Given the description of an element on the screen output the (x, y) to click on. 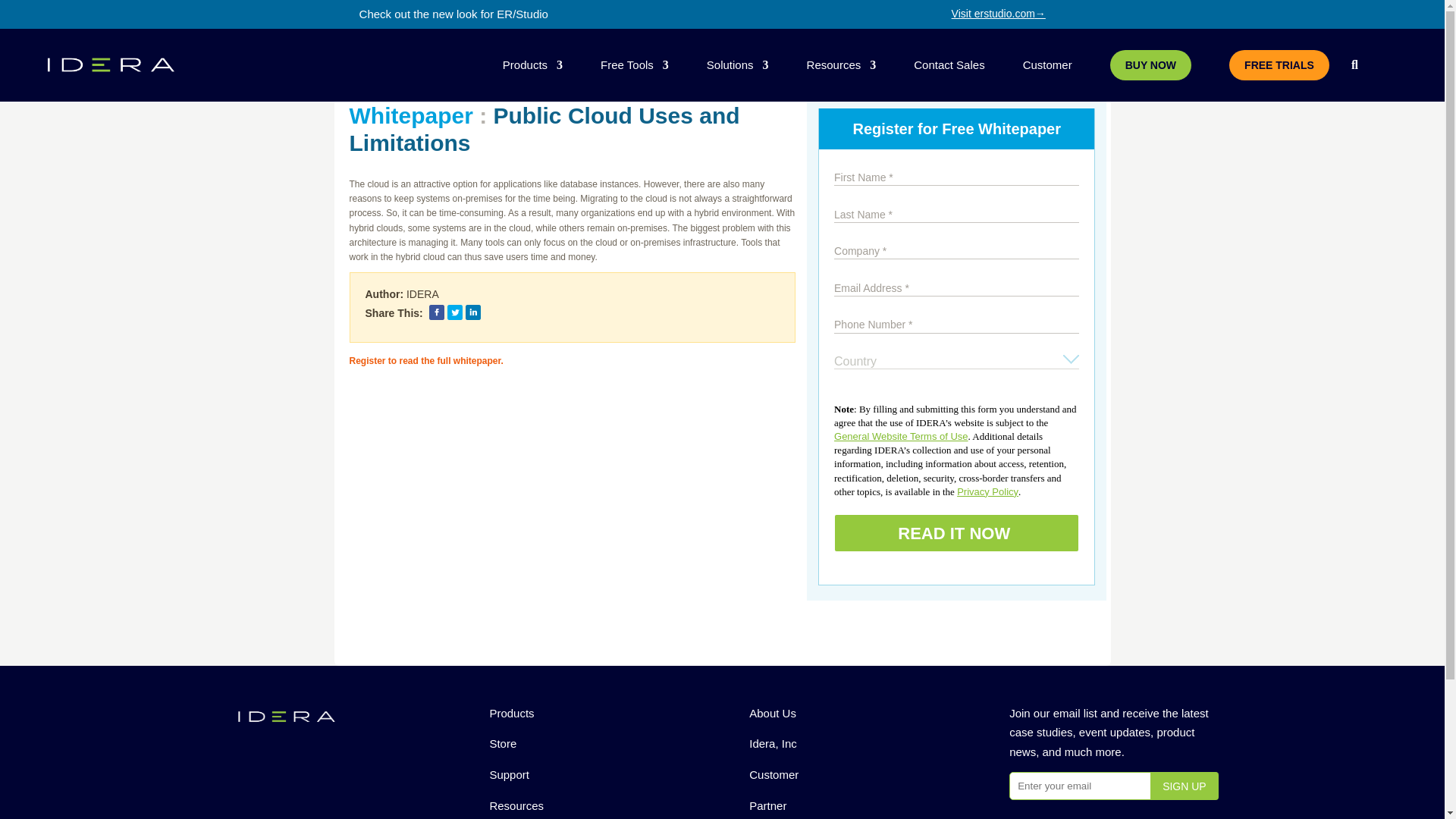
Free Tools (633, 65)
Sign up (1184, 786)
Solutions (737, 65)
Read it Now (956, 533)
Idera-Logo (285, 716)
Products (532, 65)
